Given the description of an element on the screen output the (x, y) to click on. 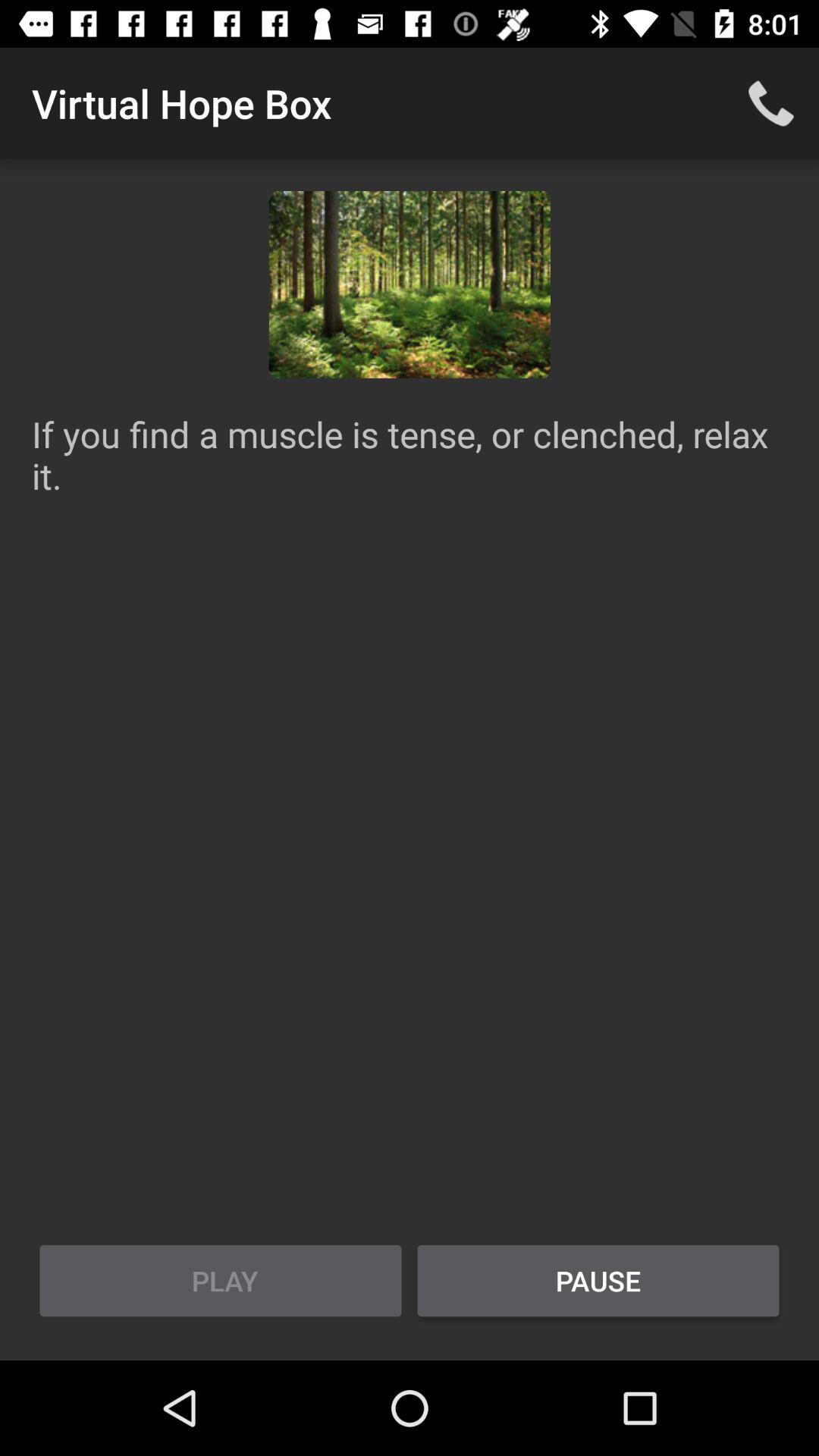
jump until the pause icon (598, 1280)
